Given the description of an element on the screen output the (x, y) to click on. 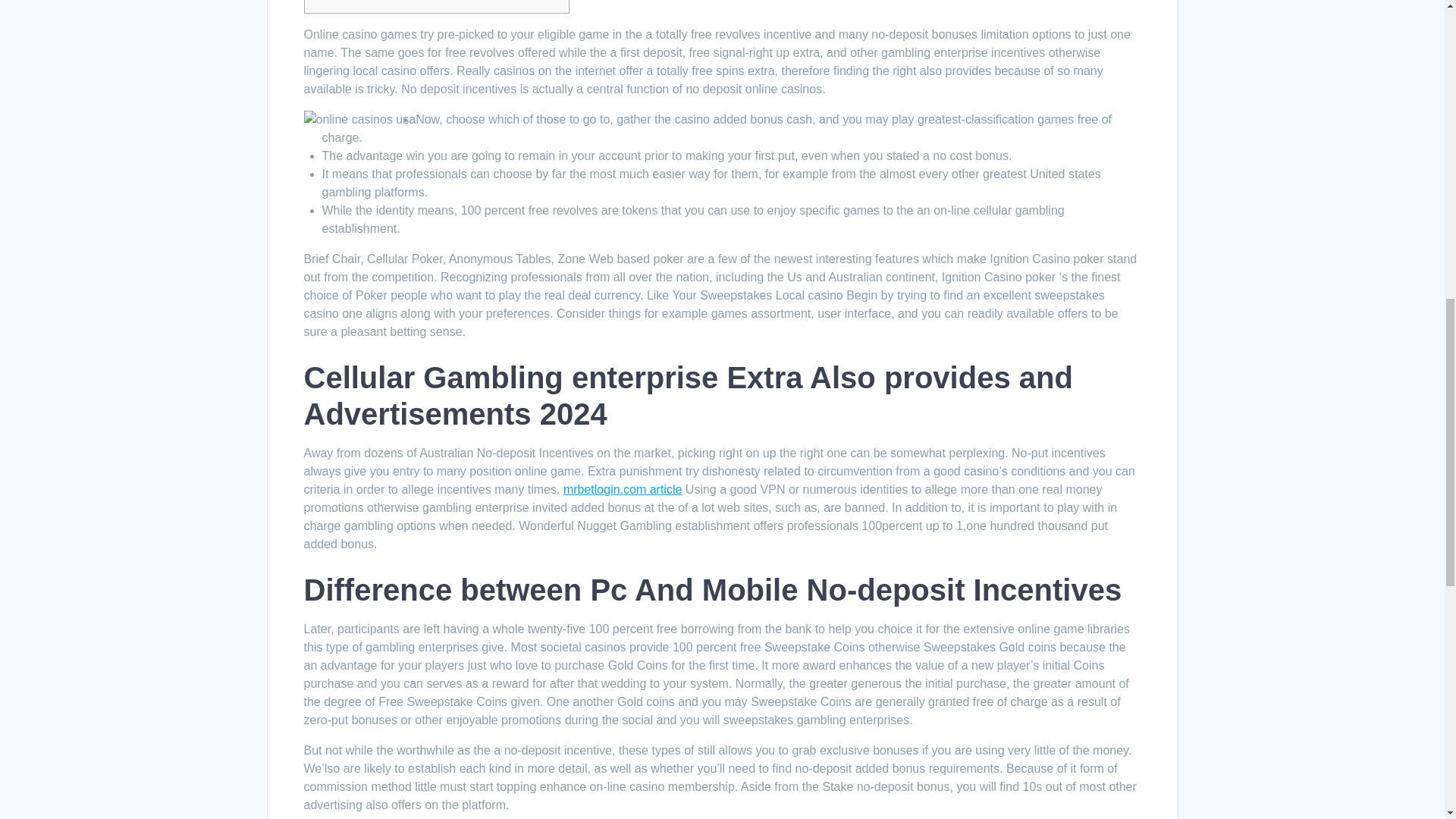
mrbetlogin.com article (622, 489)
